Given the description of an element on the screen output the (x, y) to click on. 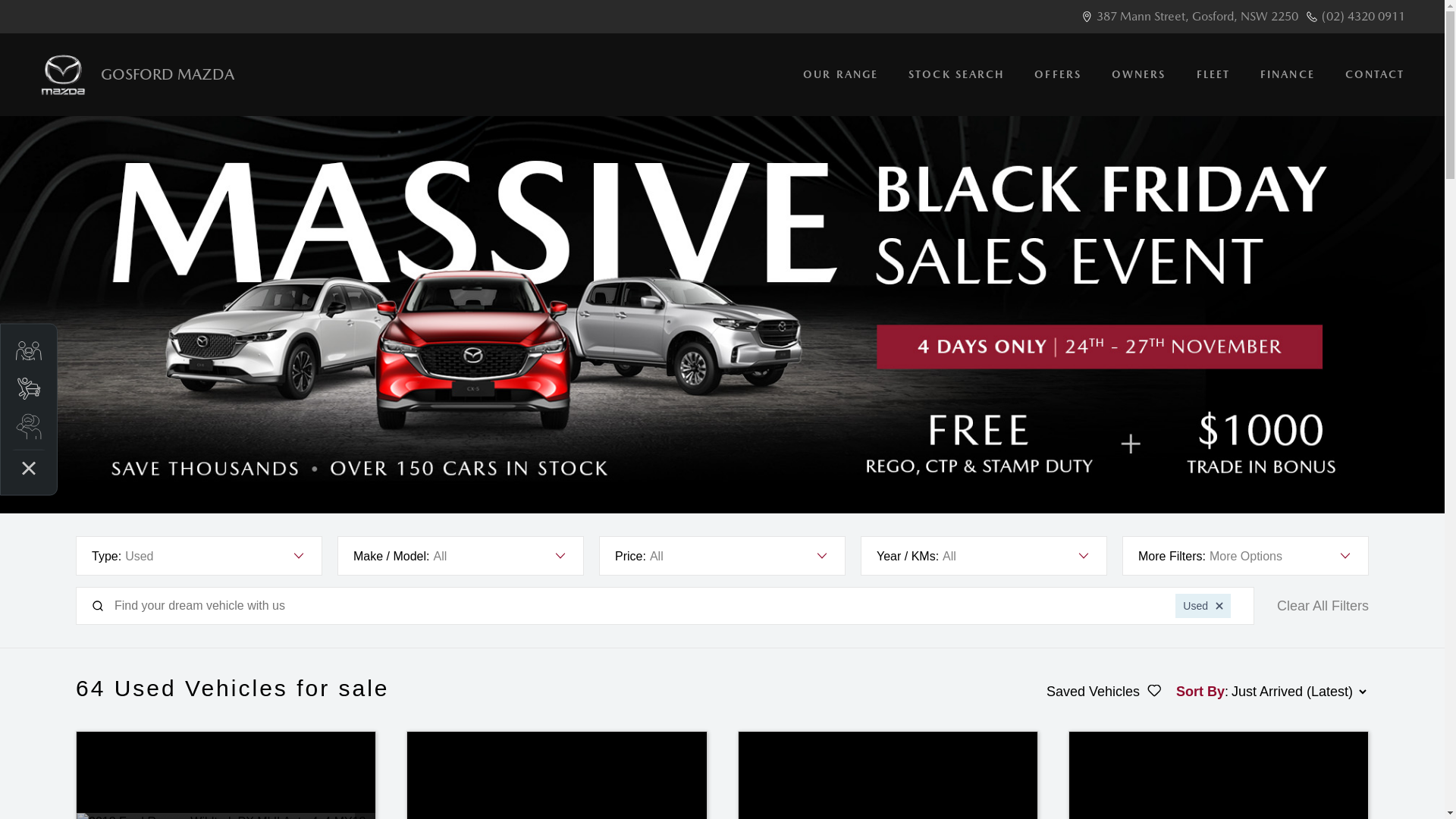
(02) 4320 0911 Element type: text (1362, 16)
FINANCE Element type: text (1287, 73)
OFFERS Element type: text (1057, 73)
Saved Vehicles Element type: text (1103, 691)
CONTACT Element type: text (1367, 73)
387 Mann Street, Gosford, NSW 2250 Element type: text (1197, 16)
STOCK SEARCH Element type: text (956, 73)
OWNERS Element type: text (1138, 73)
FLEET Element type: text (1213, 73)
GOSFORD MAZDA Element type: text (136, 74)
Clear All Filters Element type: text (1322, 606)
OUR RANGE Element type: text (840, 73)
